Given the description of an element on the screen output the (x, y) to click on. 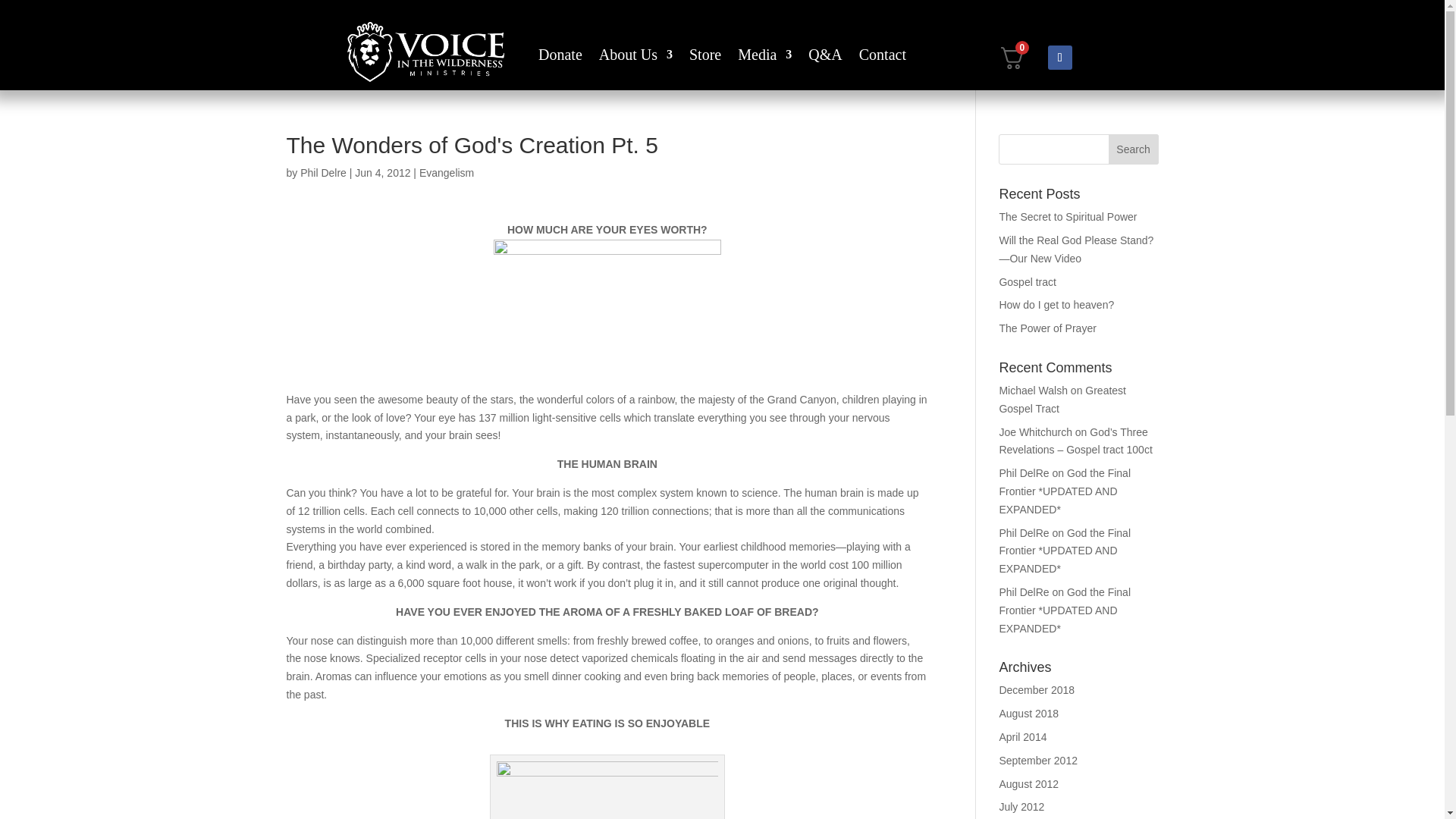
How do I get to heaven? (1055, 304)
Voice-in-the-Wilderness-White150h (425, 51)
Search (1133, 149)
About Us (635, 57)
Media (765, 57)
Donate (560, 57)
Store (704, 57)
Greatest Gospel Tract (1061, 399)
Posts by Phil Delre (322, 173)
Evangelism (446, 173)
Phil Delre (322, 173)
December 2018 (1036, 689)
Search (1133, 149)
The Power of Prayer (1047, 328)
tongue-dt-2-431x300 (606, 790)
